Given the description of an element on the screen output the (x, y) to click on. 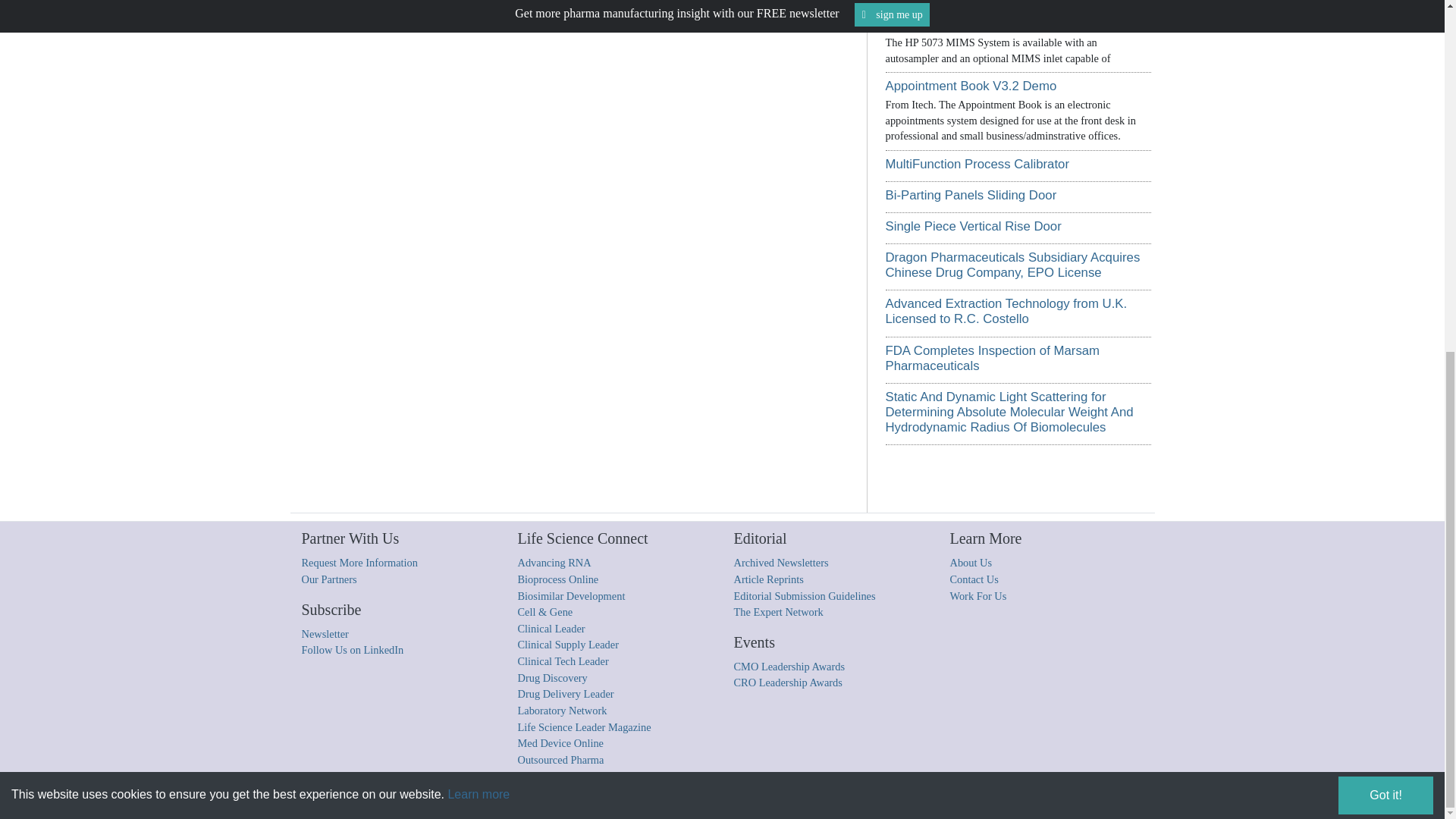
Appointment Book V3.2 Demo (971, 85)
Autosampler (920, 23)
MultiFunction Process Calibrator (976, 164)
Bi-Parting Panels Sliding Door (971, 195)
